Given the description of an element on the screen output the (x, y) to click on. 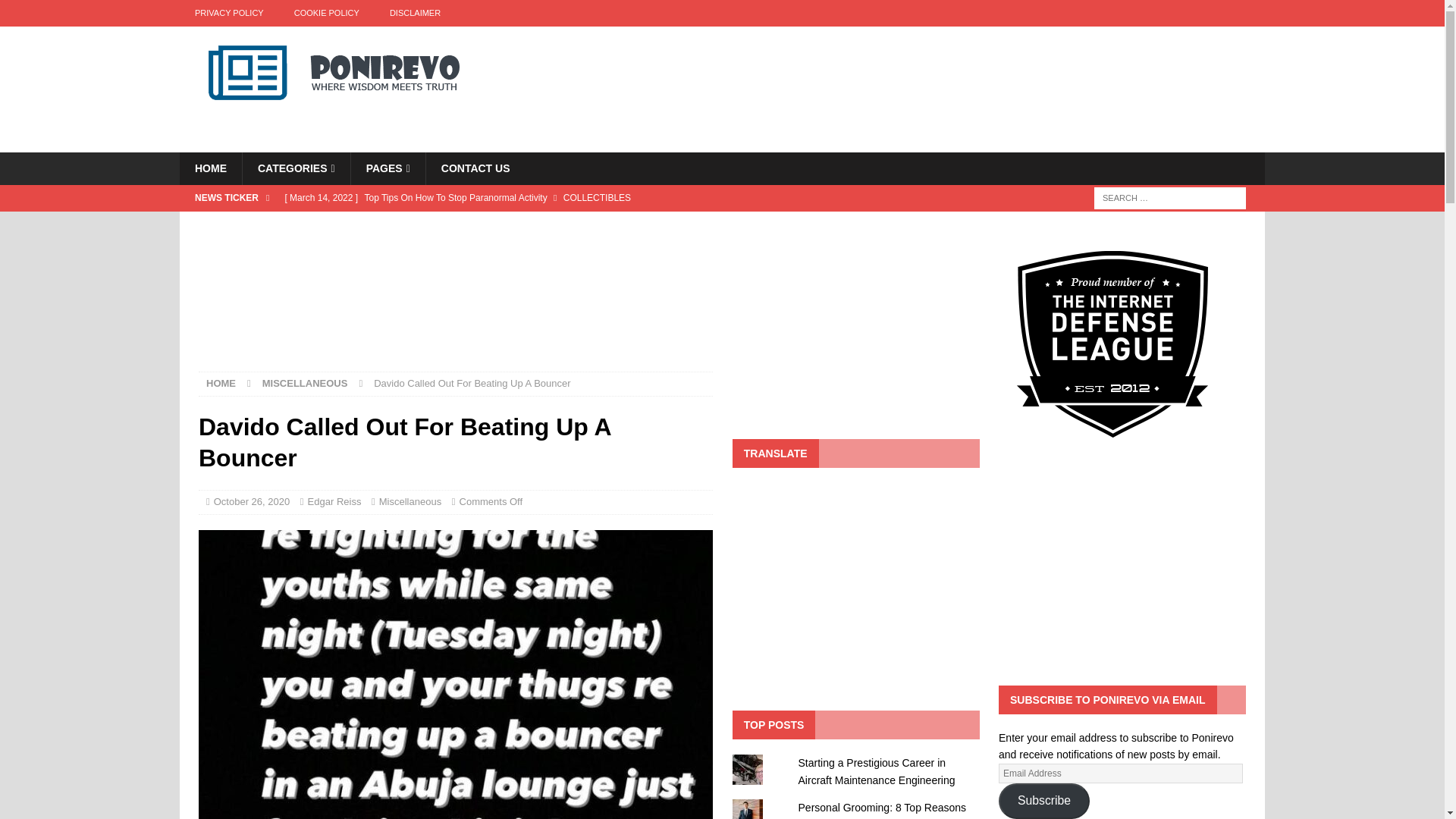
PAGES (387, 168)
Edgar Reiss (334, 501)
MISCELLANEOUS (304, 383)
October 26, 2020 (251, 501)
Search (56, 11)
HOME (220, 383)
HOME (210, 168)
CONTACT US (475, 168)
CATEGORIES (295, 168)
COOKIE POLICY (326, 13)
